Given the description of an element on the screen output the (x, y) to click on. 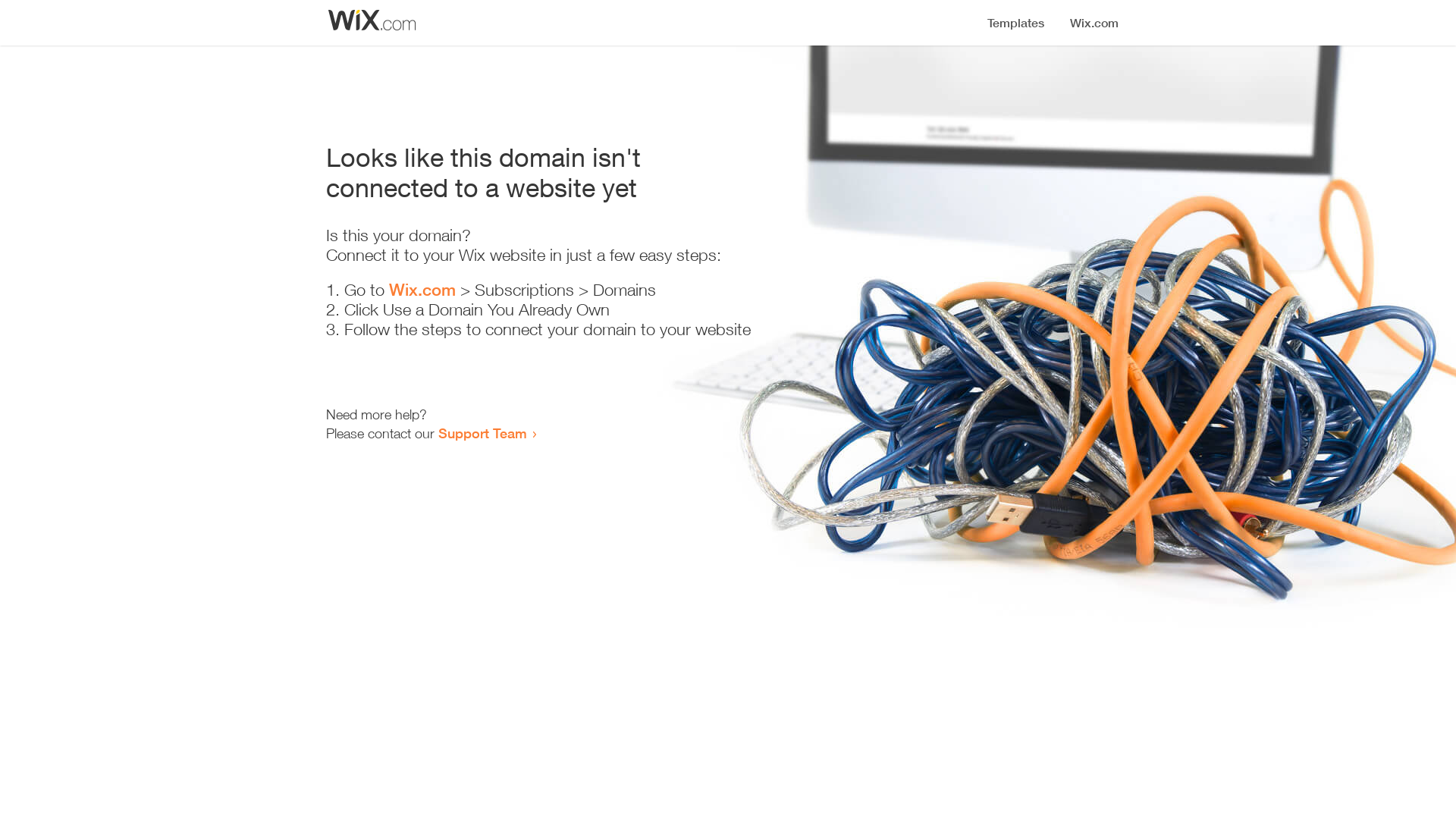
Support Team Element type: text (482, 432)
Wix.com Element type: text (422, 289)
